Given the description of an element on the screen output the (x, y) to click on. 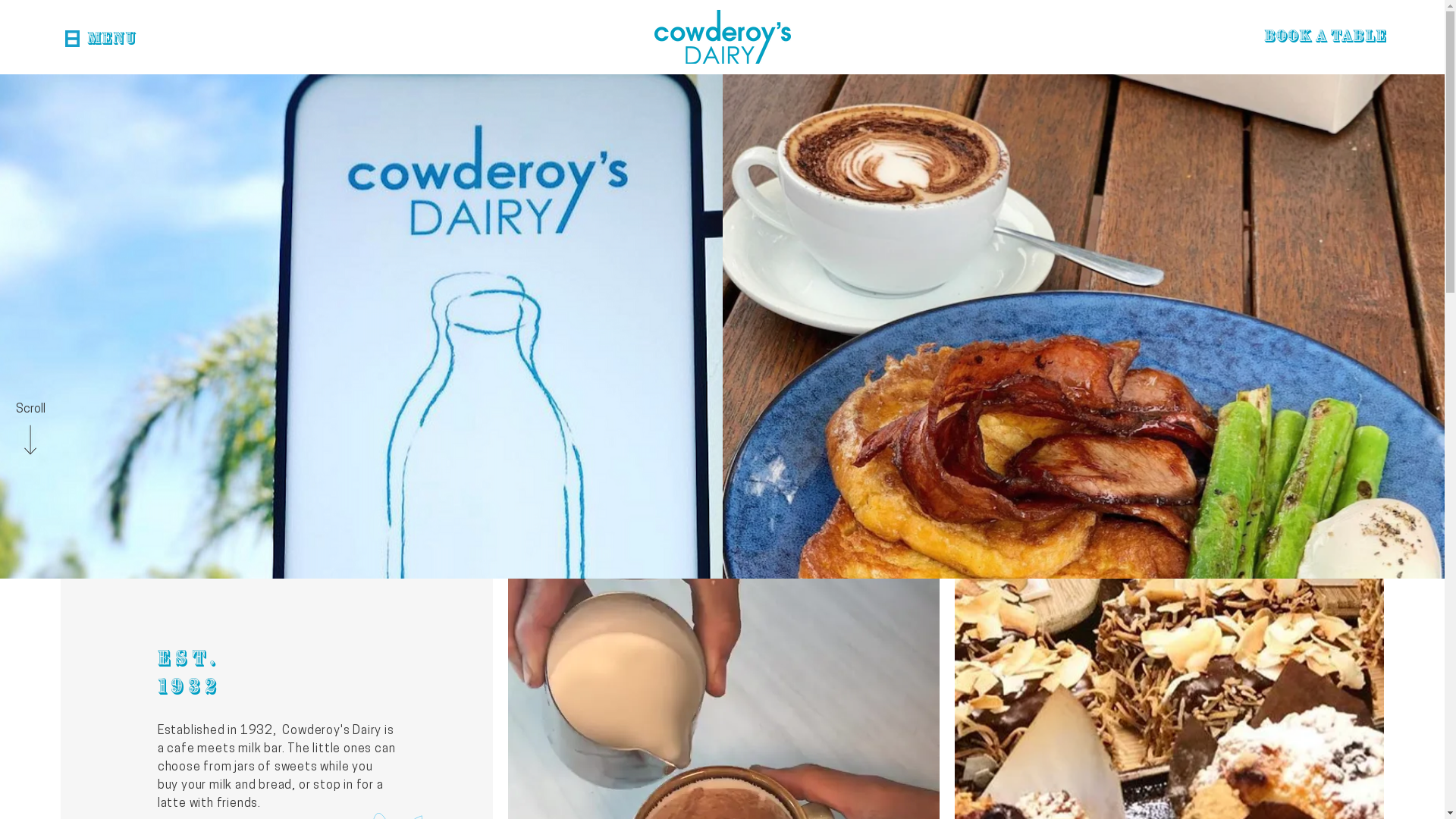
Scroll Element type: text (30, 409)
Restaurant Social Bar Element type: hover (1414, 409)
Book a Table Element type: text (1325, 38)
Menu Element type: text (111, 40)
